Given the description of an element on the screen output the (x, y) to click on. 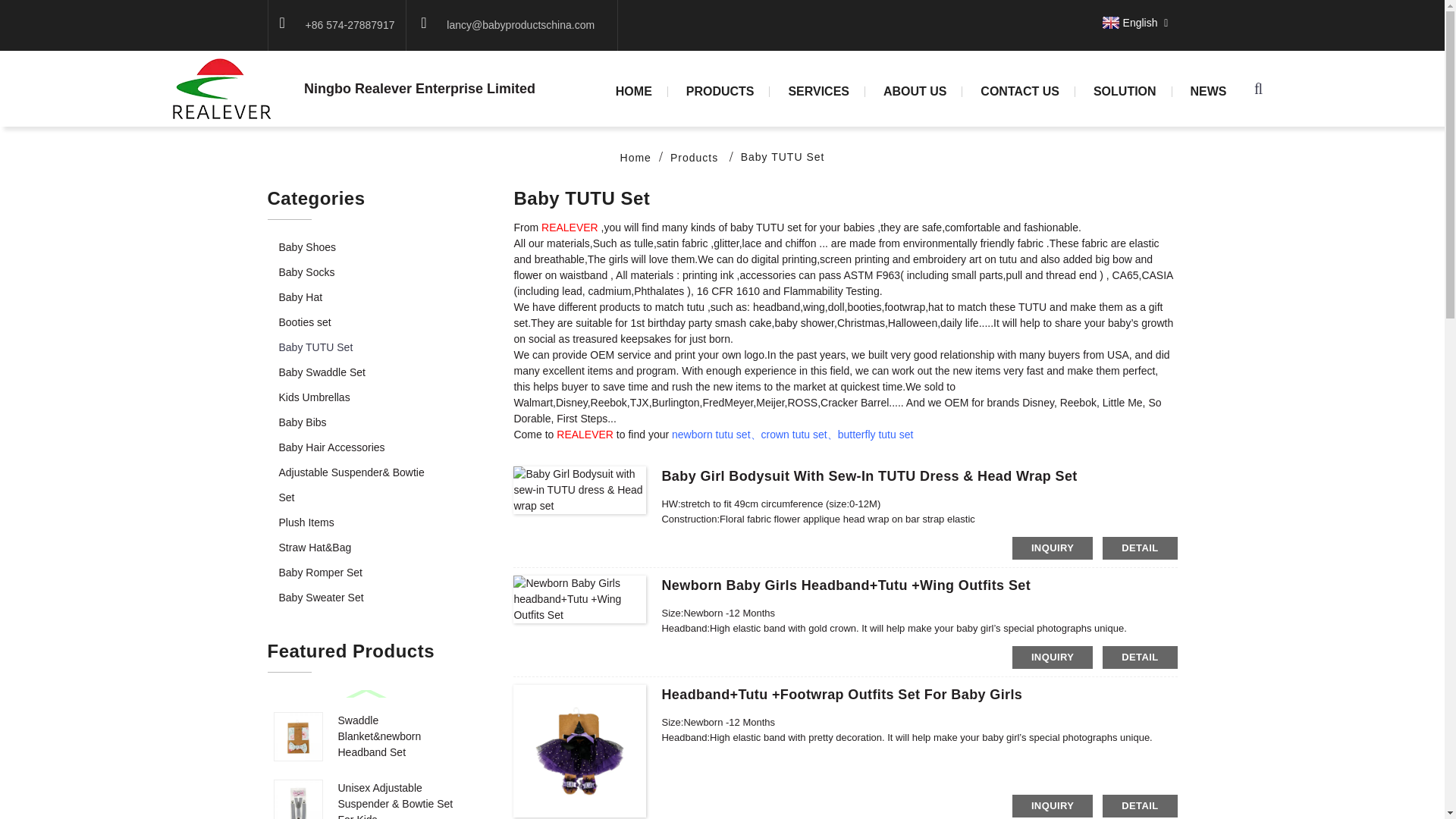
Products (693, 157)
English (1128, 22)
PRODUCTS (720, 91)
HOME (633, 91)
